Given the description of an element on the screen output the (x, y) to click on. 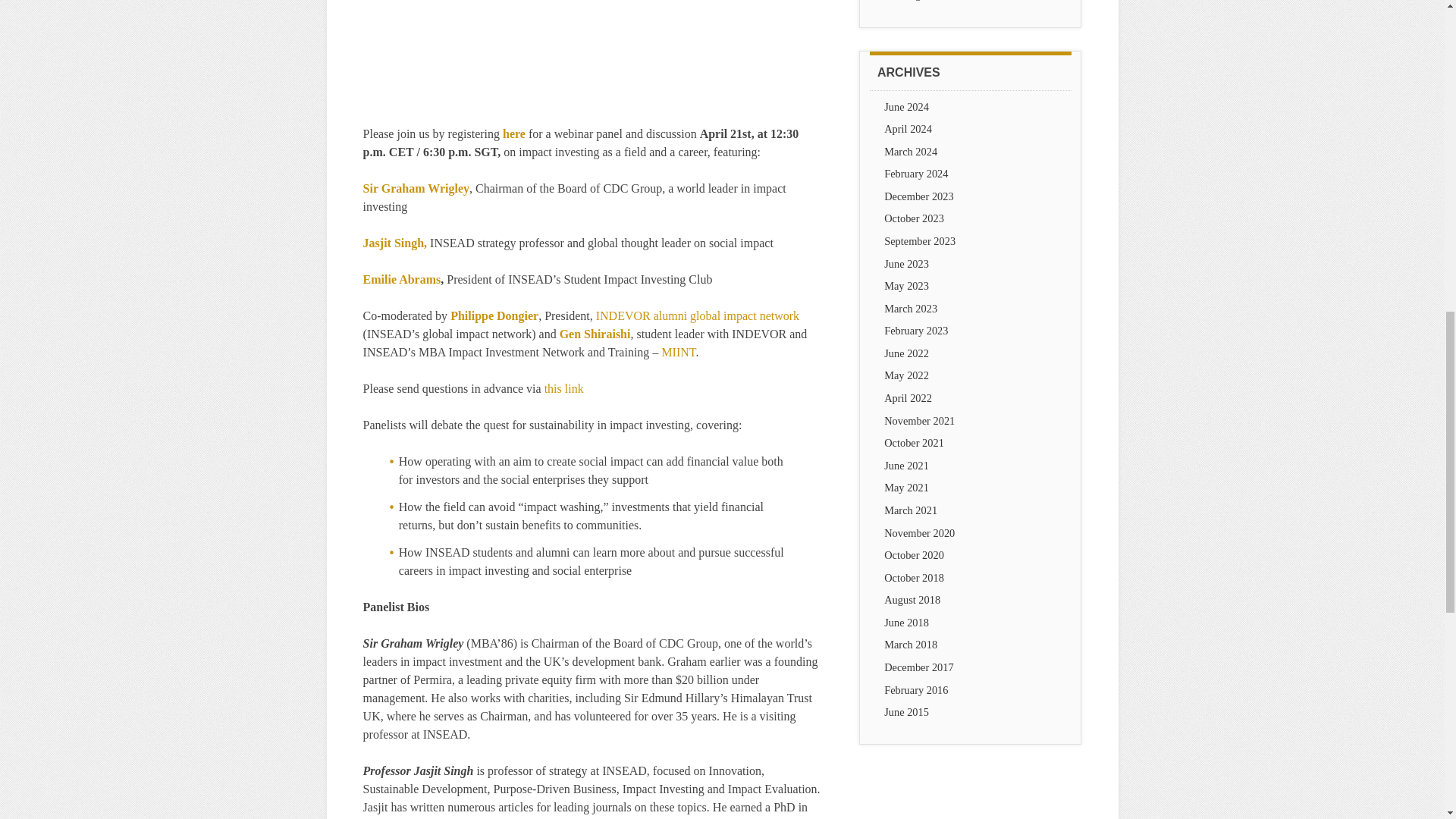
here (513, 133)
Jasjit Singh, (394, 242)
MIINT (678, 351)
Emilie Abrams (401, 278)
INDEVOR alumni global impact network (697, 315)
Sir Graham Wrigley (415, 187)
Philippe Dongier (493, 315)
Gen Shiraishi (594, 333)
this link (563, 388)
